Given the description of an element on the screen output the (x, y) to click on. 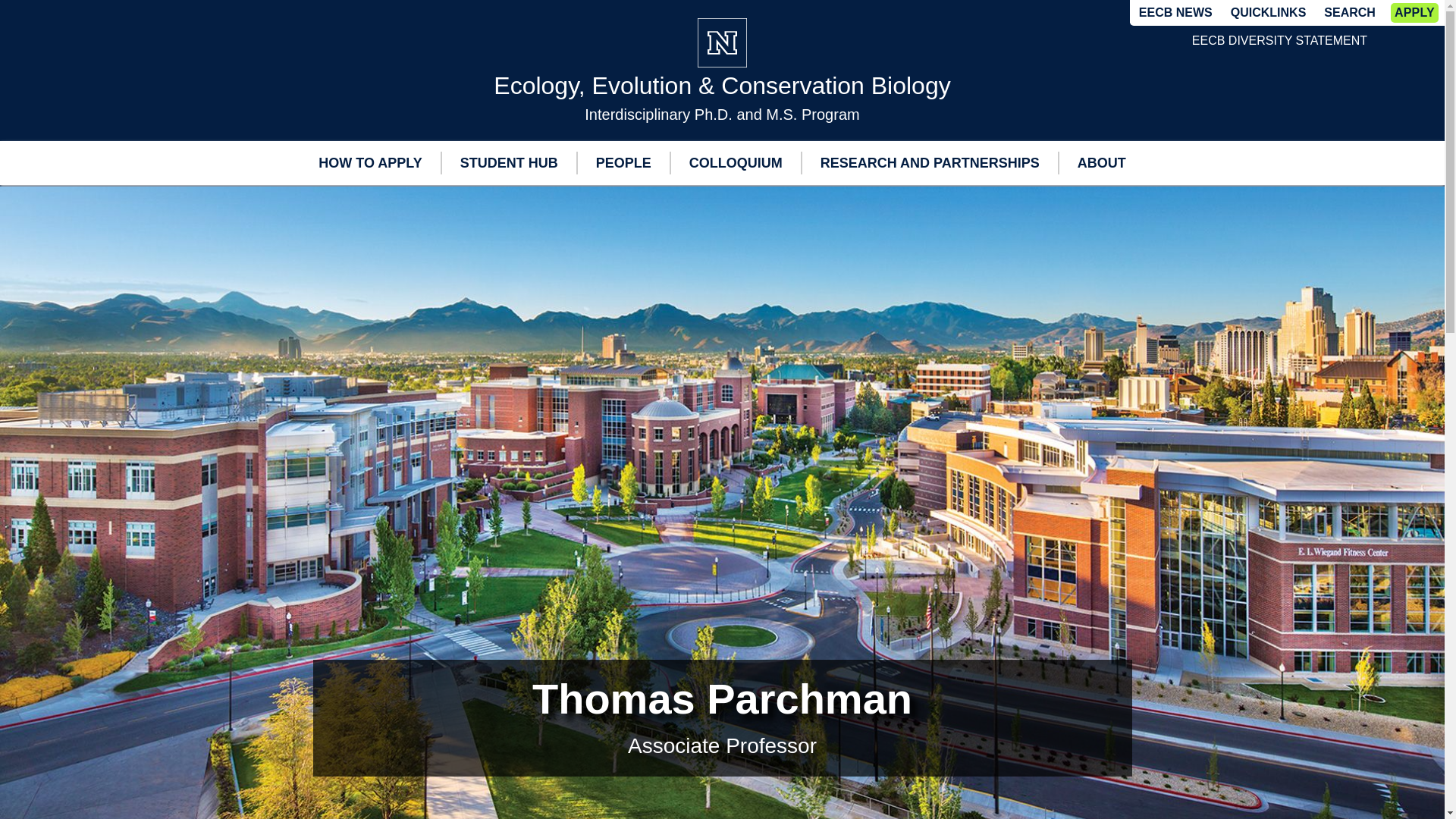
HOW TO APPLY (369, 162)
APPLY (1414, 12)
SEARCH (1349, 12)
STUDENT HUB (509, 162)
EECB DIVERSITY STATEMENT (1278, 40)
QUICKLINKS (1267, 12)
EECB NEWS (1175, 13)
